Given the description of an element on the screen output the (x, y) to click on. 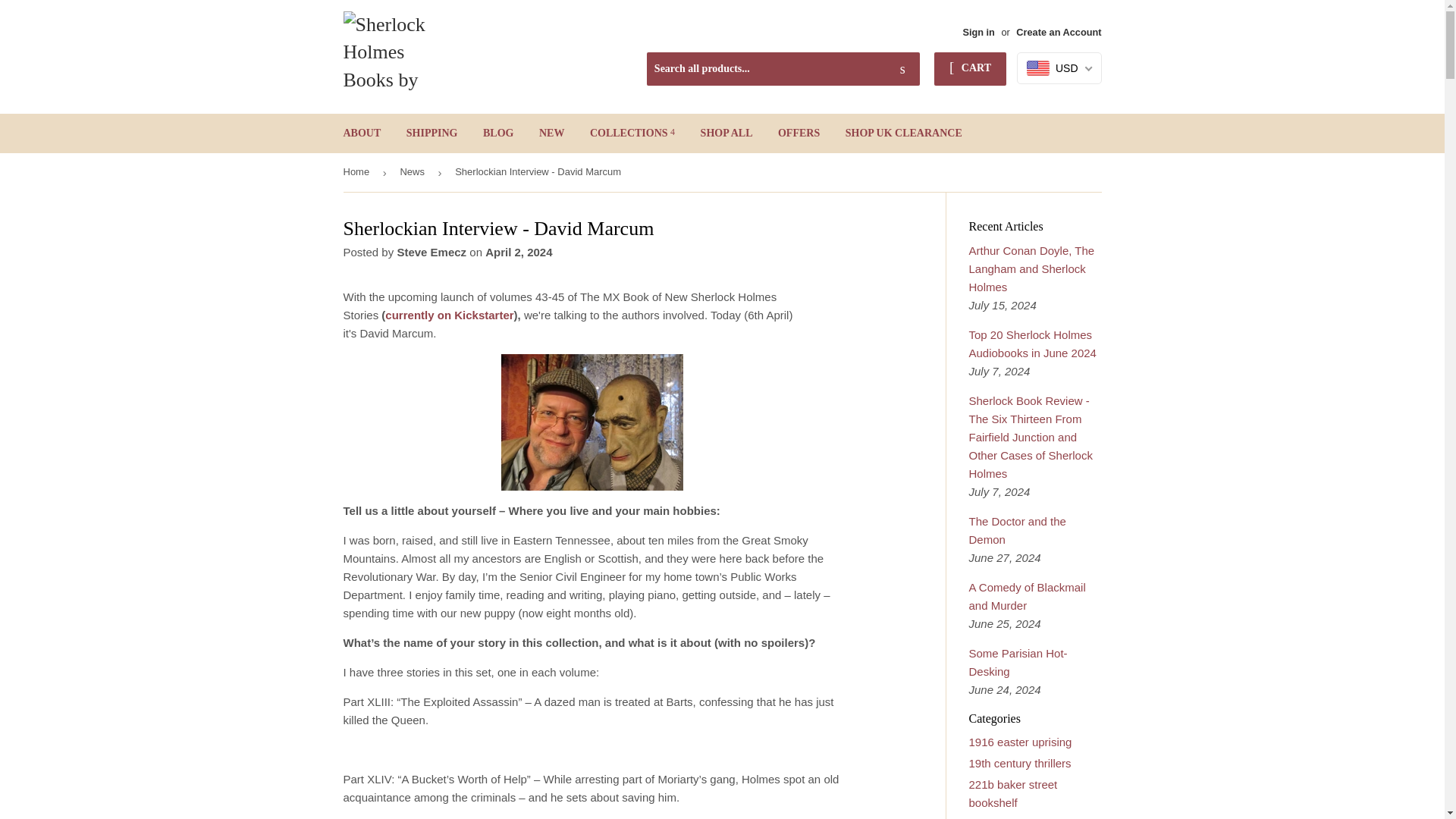
Show articles tagged 1916 easter uprising (1020, 741)
Create an Account (1058, 31)
COLLECTIONS (631, 133)
Show articles tagged 221b baker street bookshelf (1013, 793)
OFFERS (799, 133)
NEW (551, 133)
SHOP UK CLEARANCE (904, 133)
Sign in (978, 31)
CART (970, 68)
Search (902, 69)
SHOP ALL (726, 133)
BLOG (497, 133)
Show articles tagged a study in crimson (1015, 817)
Show articles tagged 19th century thrillers (1020, 762)
SHIPPING (431, 133)
